Given the description of an element on the screen output the (x, y) to click on. 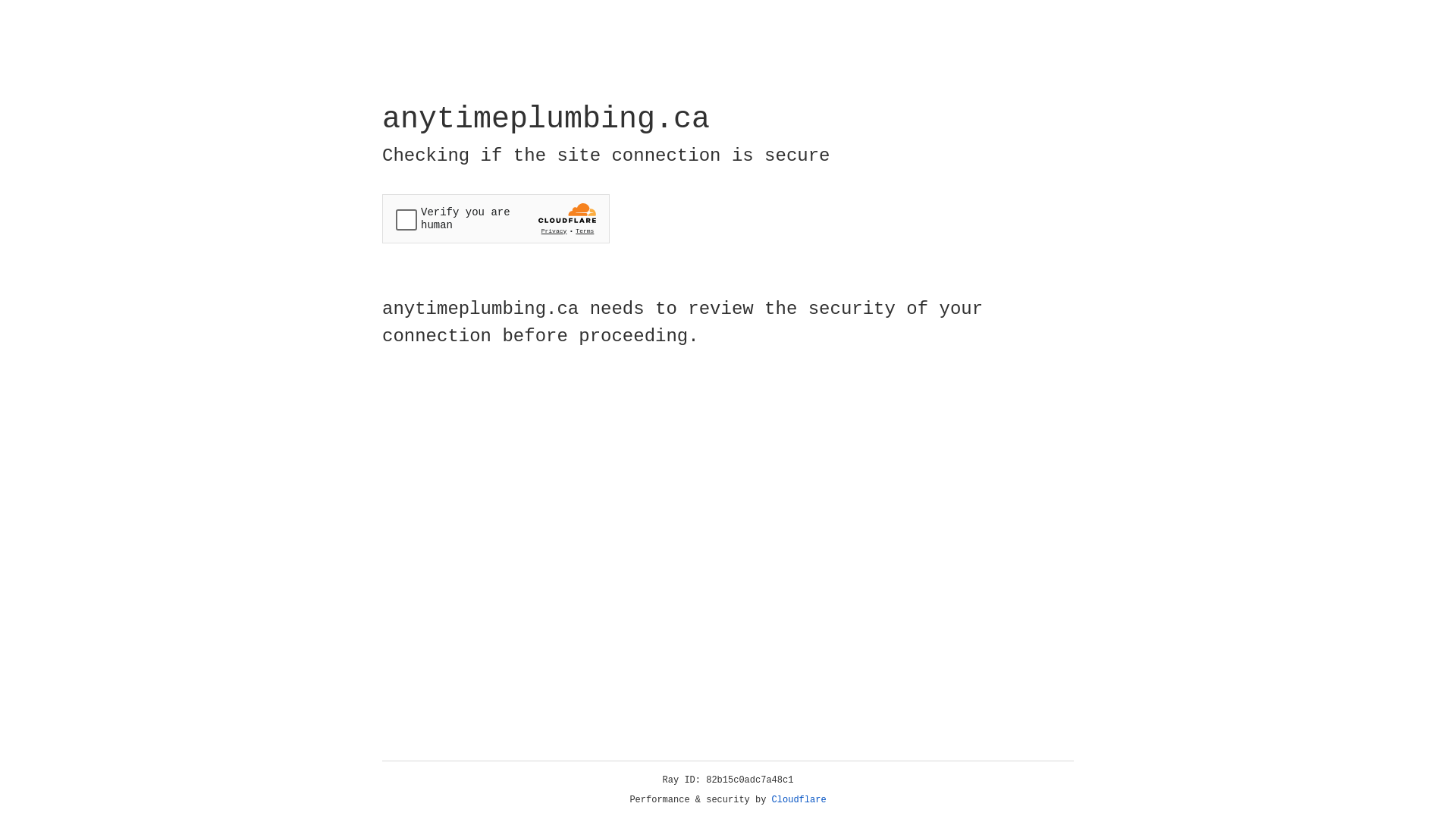
Cloudflare Element type: text (798, 799)
Widget containing a Cloudflare security challenge Element type: hover (495, 218)
